Given the description of an element on the screen output the (x, y) to click on. 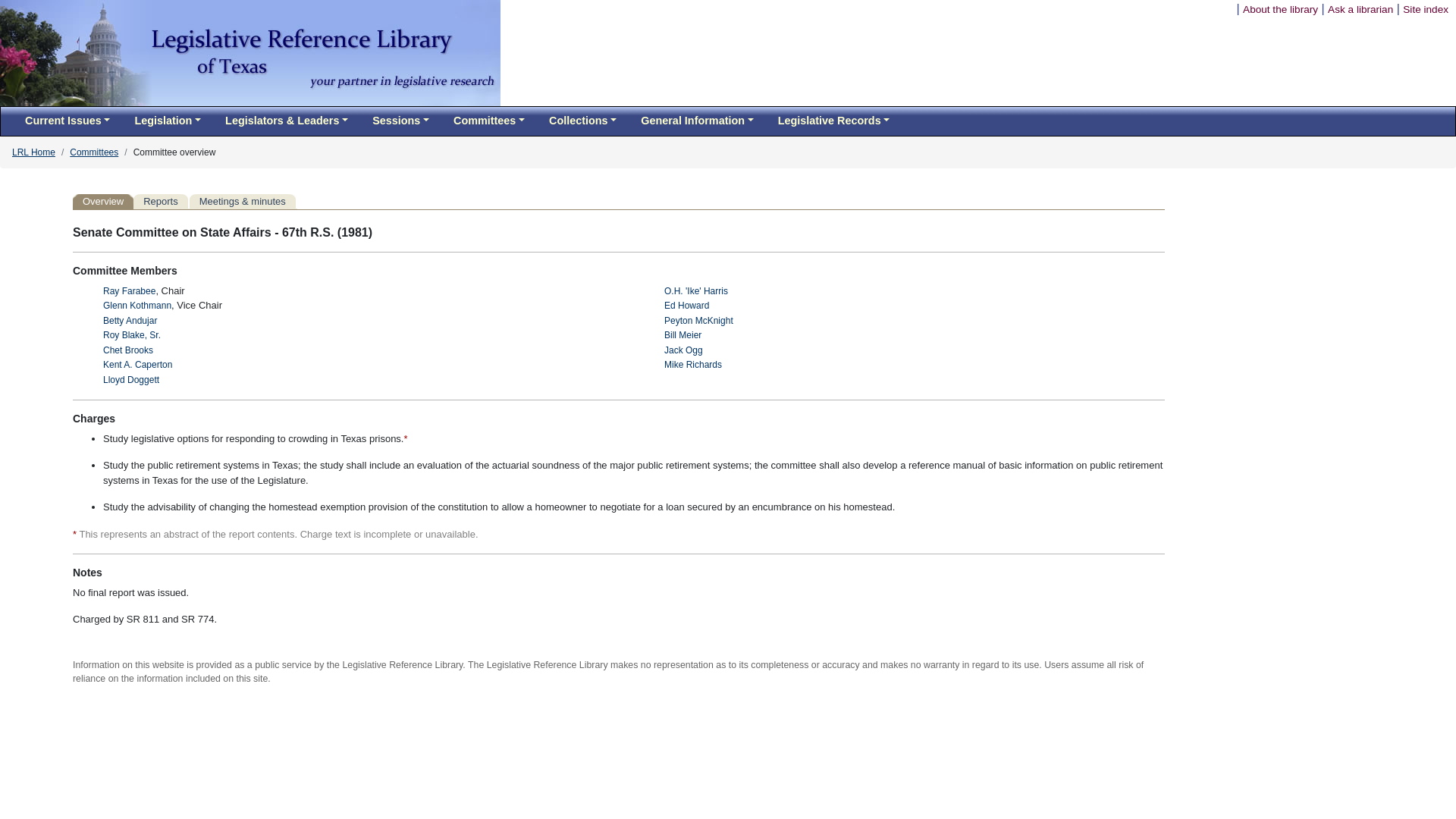
Ask a librarian (1360, 9)
Current Issues (67, 121)
Skip to main content (1177, 8)
Legislation (167, 121)
Site index (1425, 9)
About the library (1280, 9)
